Given the description of an element on the screen output the (x, y) to click on. 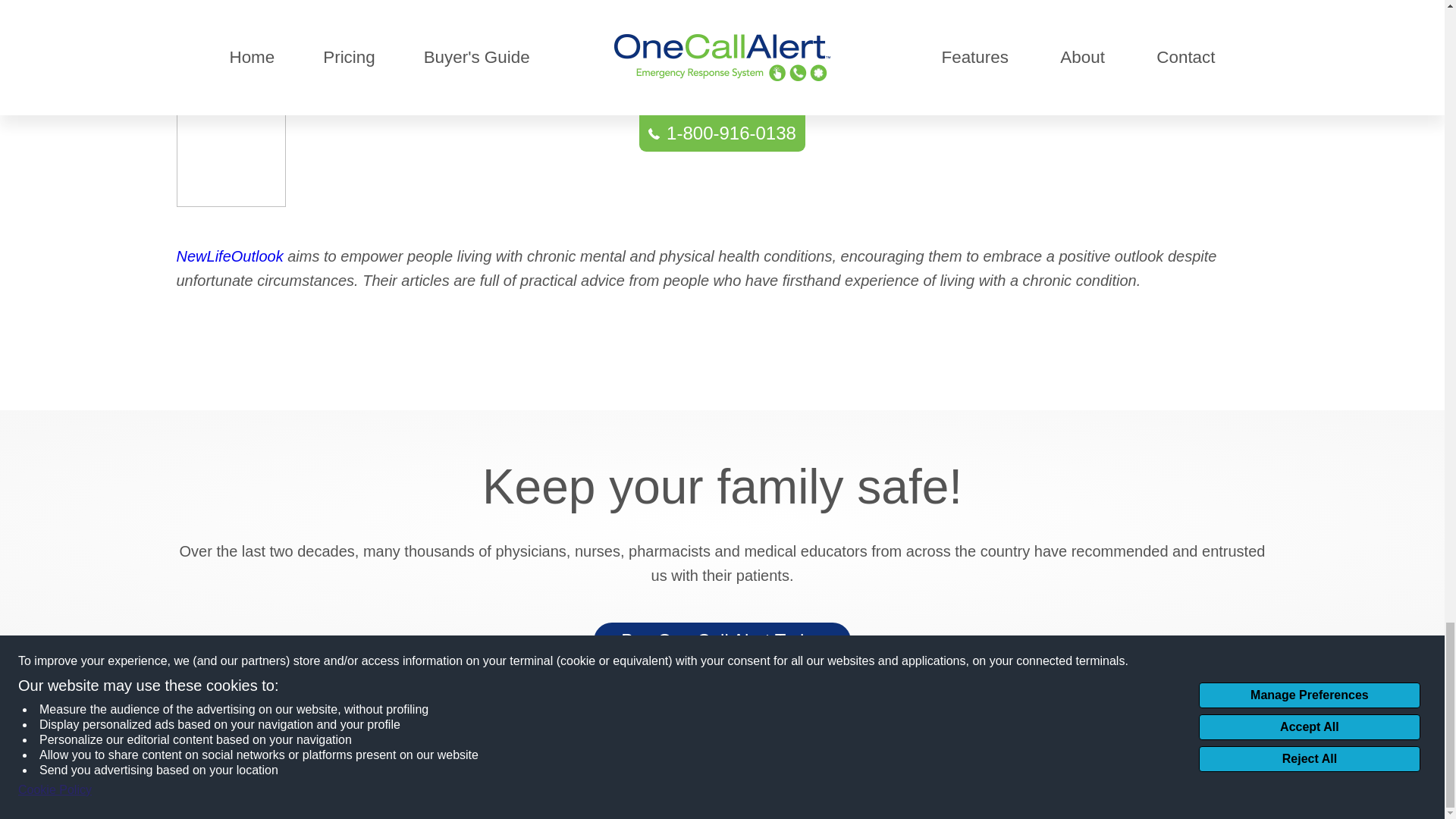
Privacy Policy (445, 787)
Terms and Conditions (552, 787)
NewLifeOutlook (229, 256)
social media (1158, 729)
CA - Do Not Sell My Personal Information (722, 742)
Buy One Call Alert Today (722, 640)
